Given the description of an element on the screen output the (x, y) to click on. 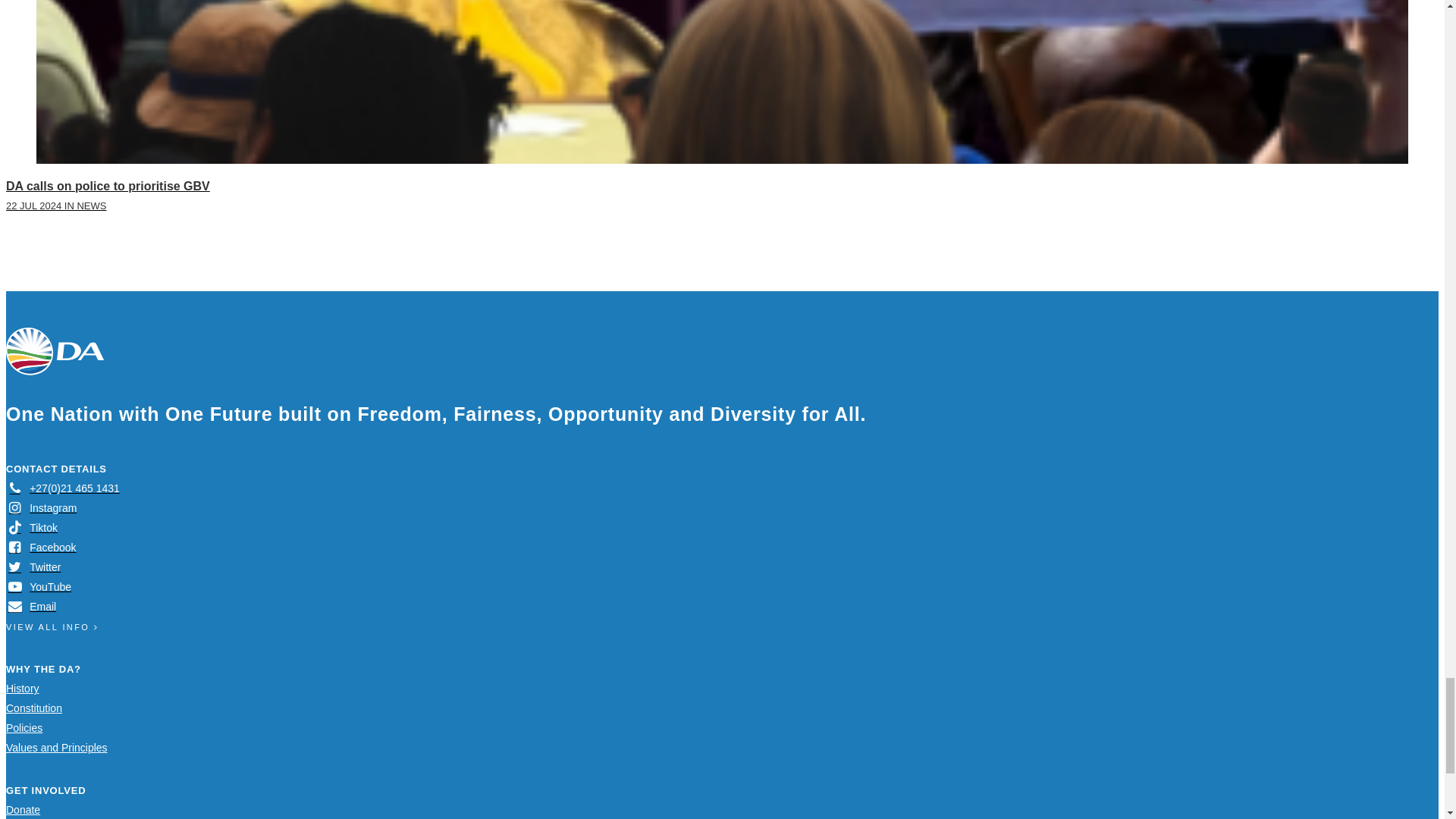
Democratic Alliance Logo (54, 351)
